Given the description of an element on the screen output the (x, y) to click on. 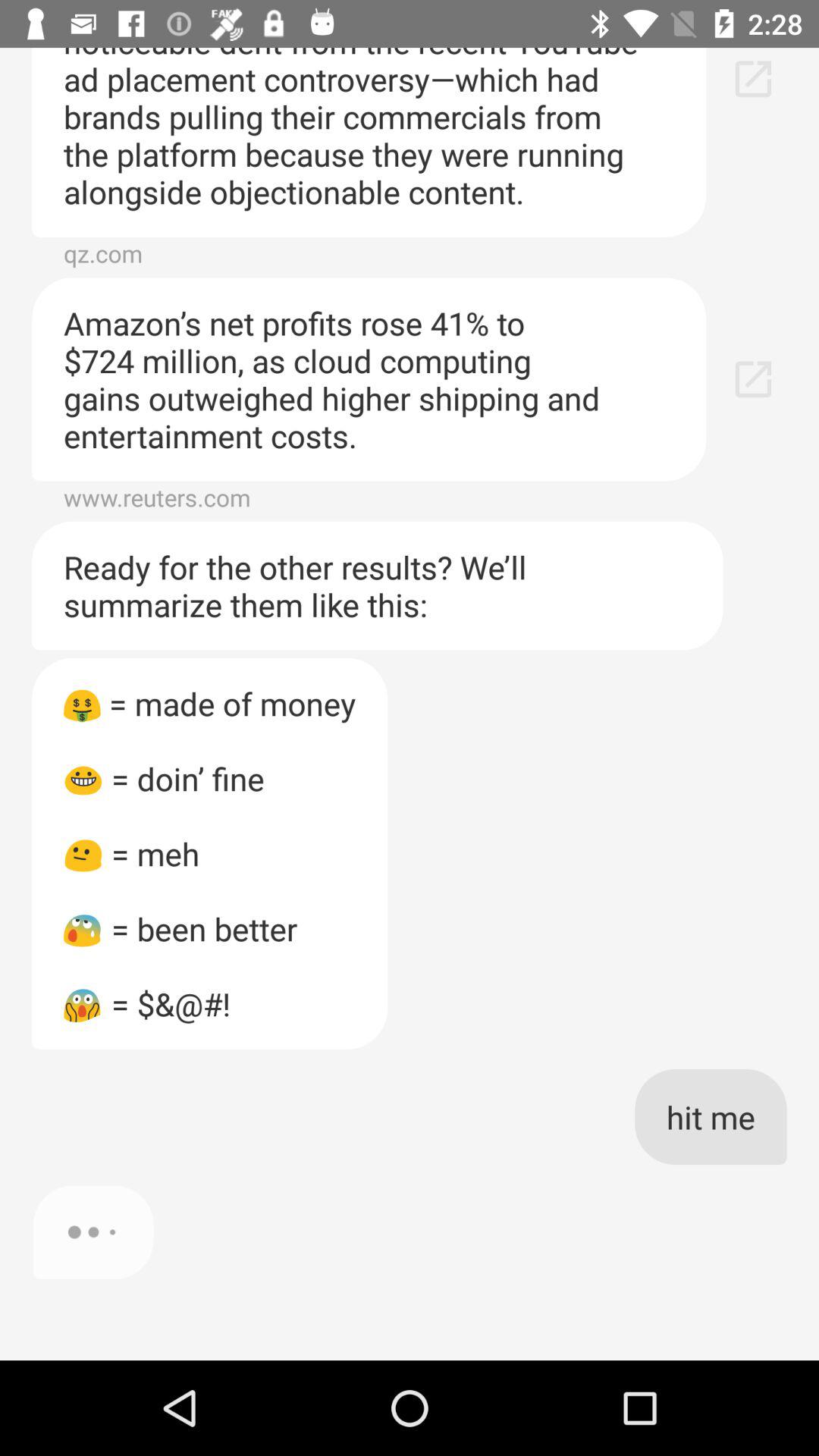
choose the amazon s net item (368, 379)
